Given the description of an element on the screen output the (x, y) to click on. 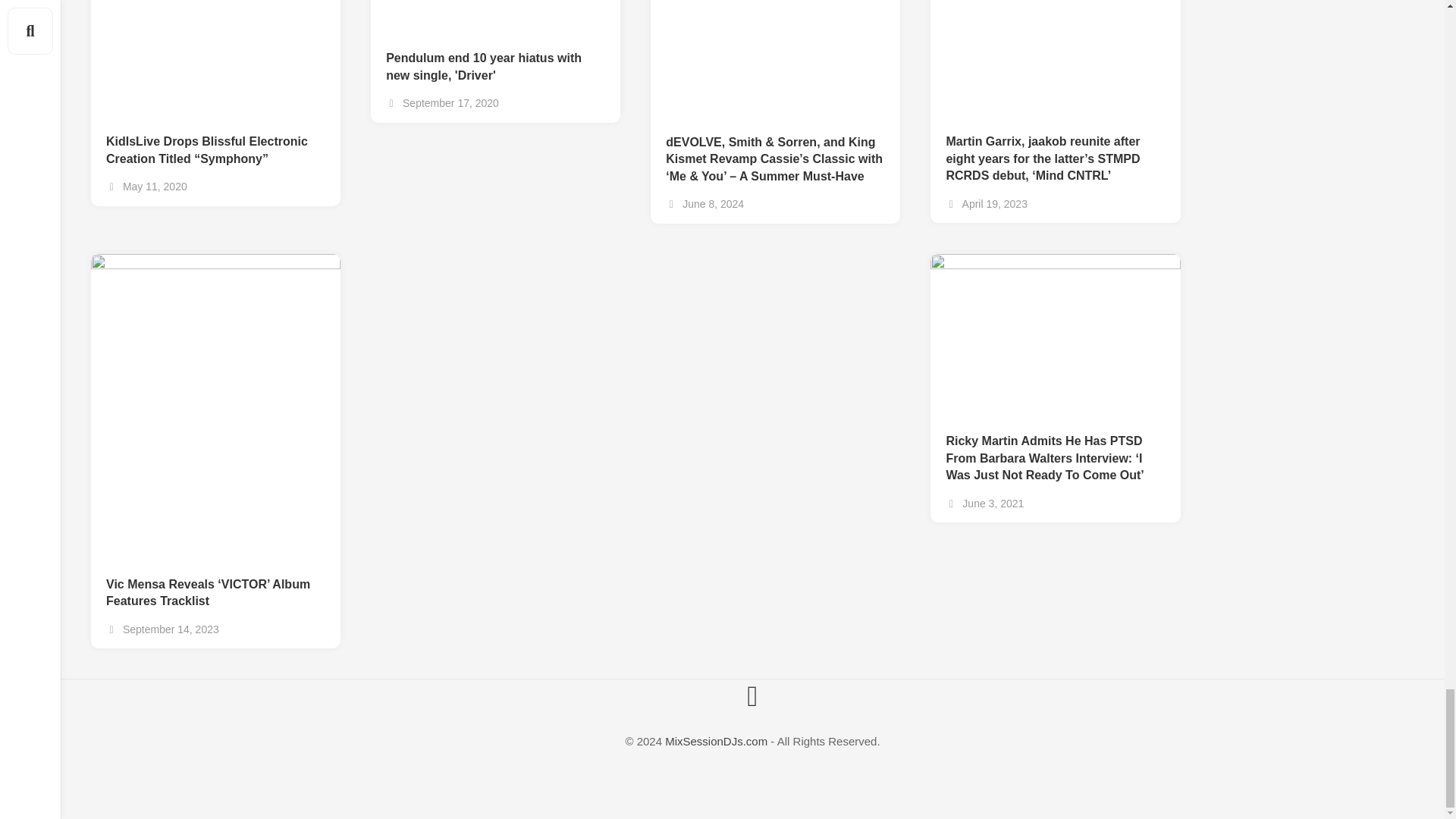
Pendulum end 10 year hiatus with new single, 'Driver' (495, 59)
